Given the description of an element on the screen output the (x, y) to click on. 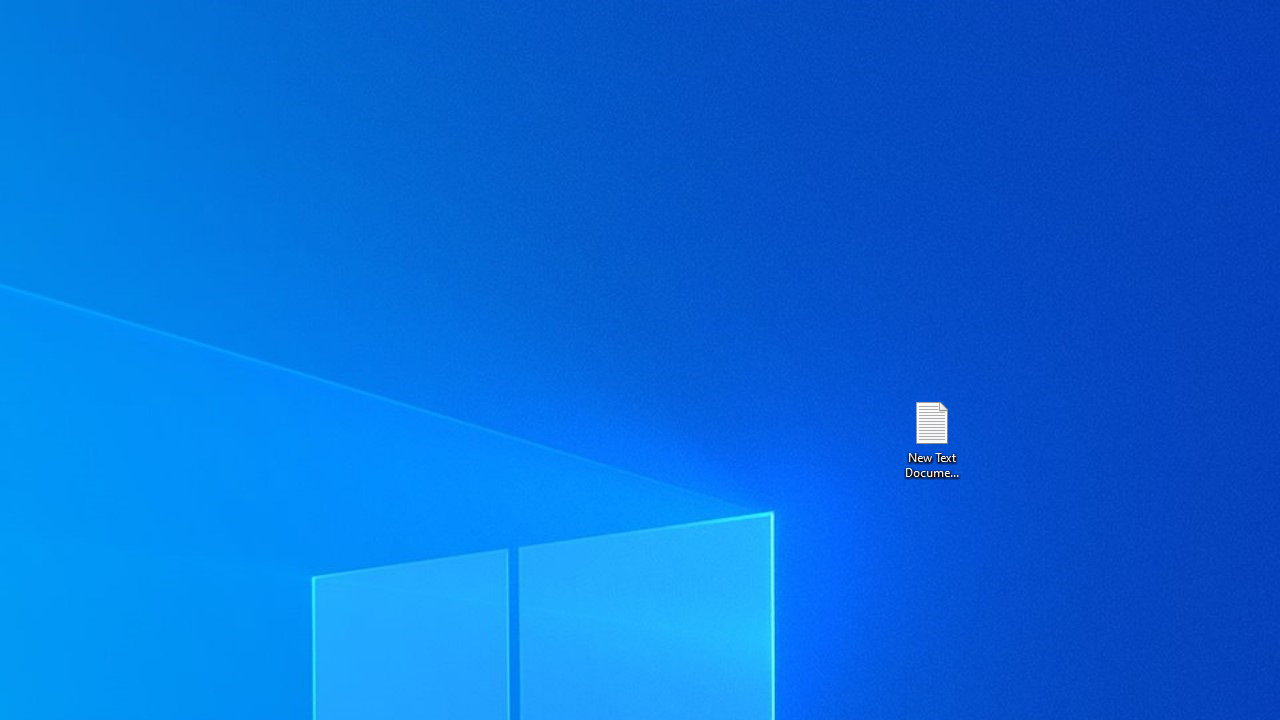
New Text Document (2) (931, 438)
